Given the description of an element on the screen output the (x, y) to click on. 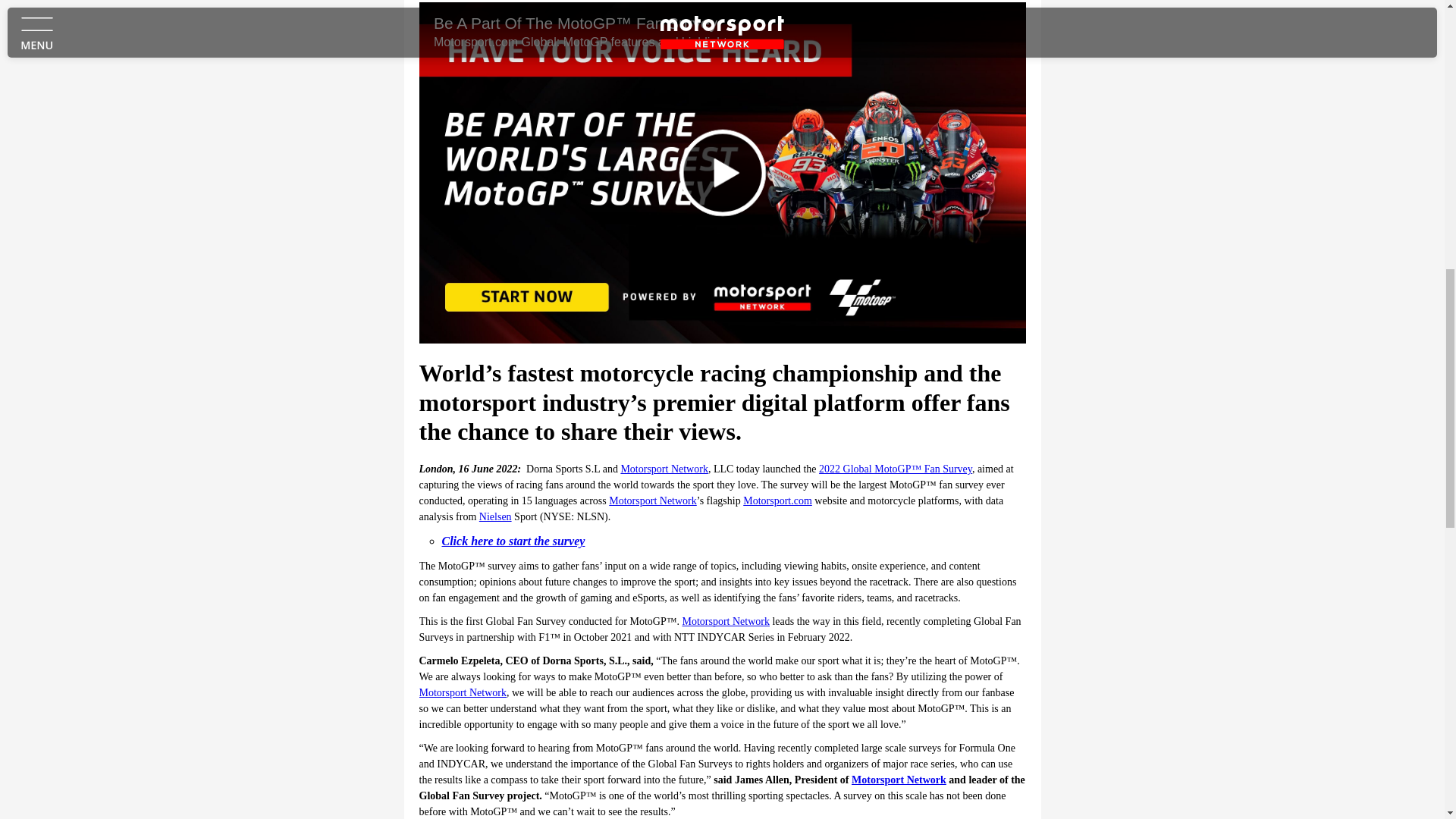
Motorsport Network (462, 692)
Motorsport.com (777, 500)
Motorsport Network (725, 621)
Nielsen (495, 516)
Click here to start the survey (513, 540)
Motorsport Network (898, 779)
Motorsport Network (652, 500)
Motorsport Network (663, 469)
